Given the description of an element on the screen output the (x, y) to click on. 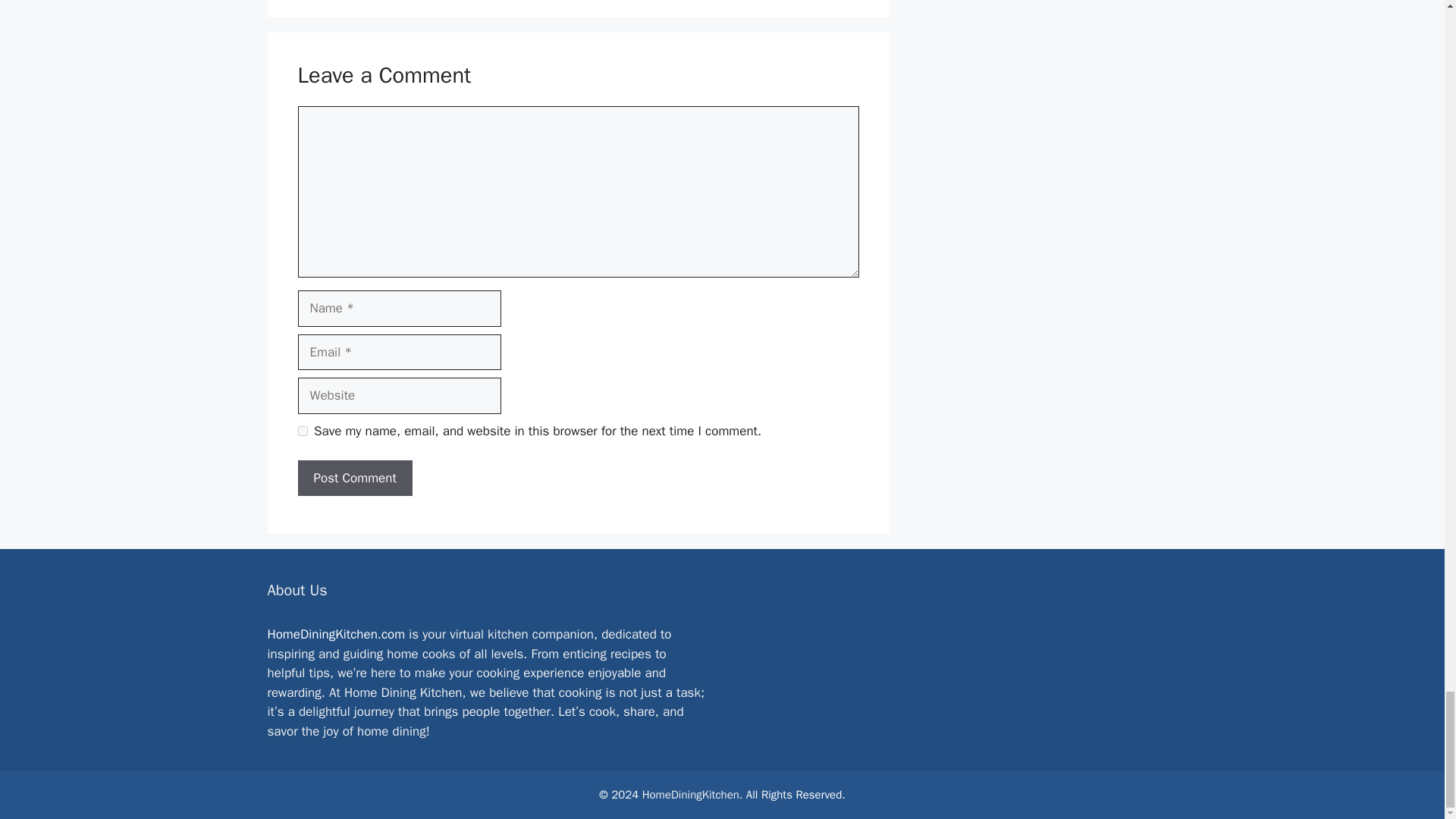
HomeDiningKitchen (690, 794)
Post Comment (354, 478)
Post Comment (354, 478)
yes (302, 430)
HomeDiningKitchen.com (335, 634)
